Given the description of an element on the screen output the (x, y) to click on. 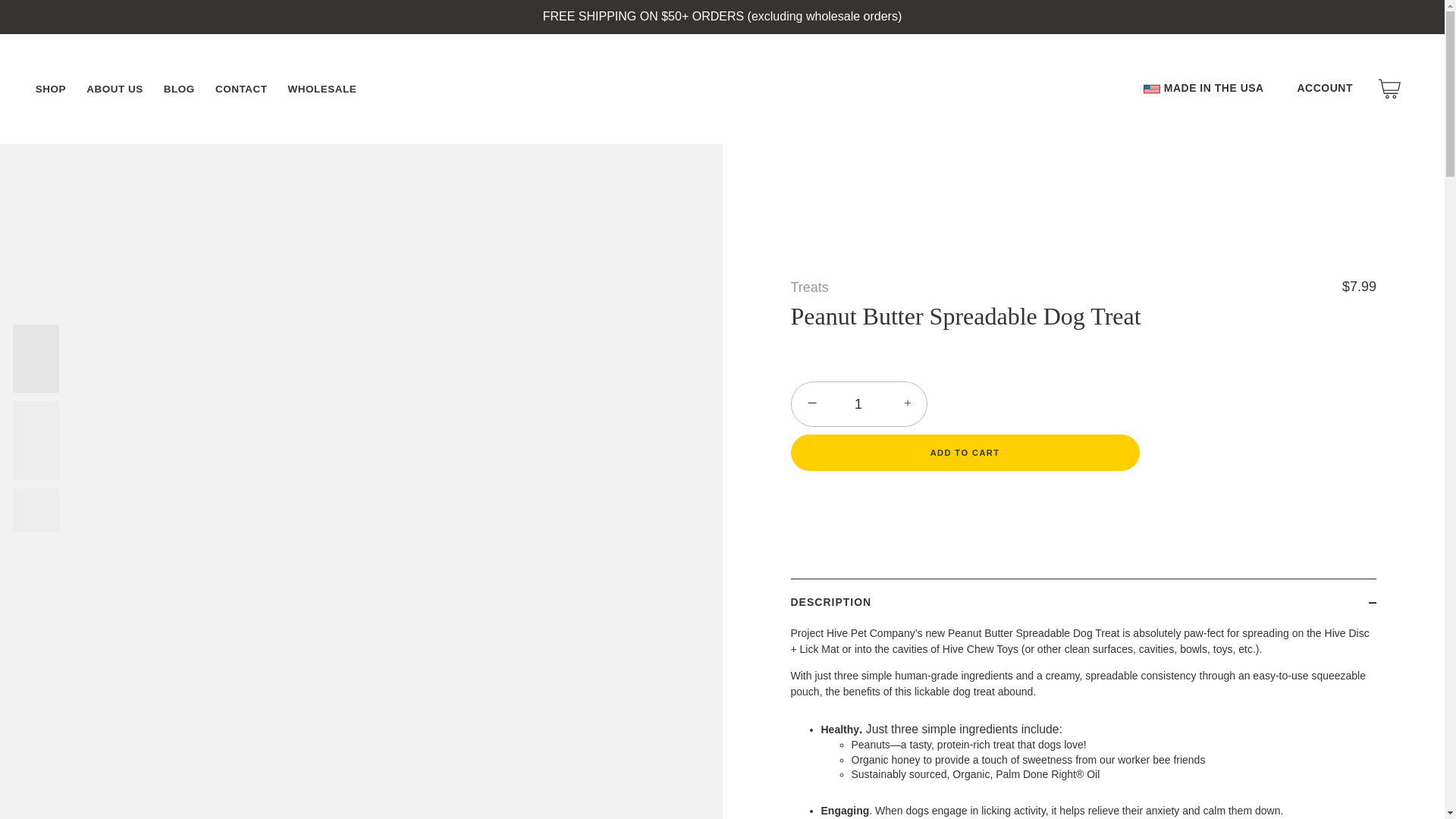
CONTACT (240, 88)
ABOUT US (114, 88)
ACCOUNT (1331, 88)
BLOG (179, 88)
SHOP (50, 88)
MADE IN THE USA (1202, 88)
WHOLESALE (322, 88)
